Given the description of an element on the screen output the (x, y) to click on. 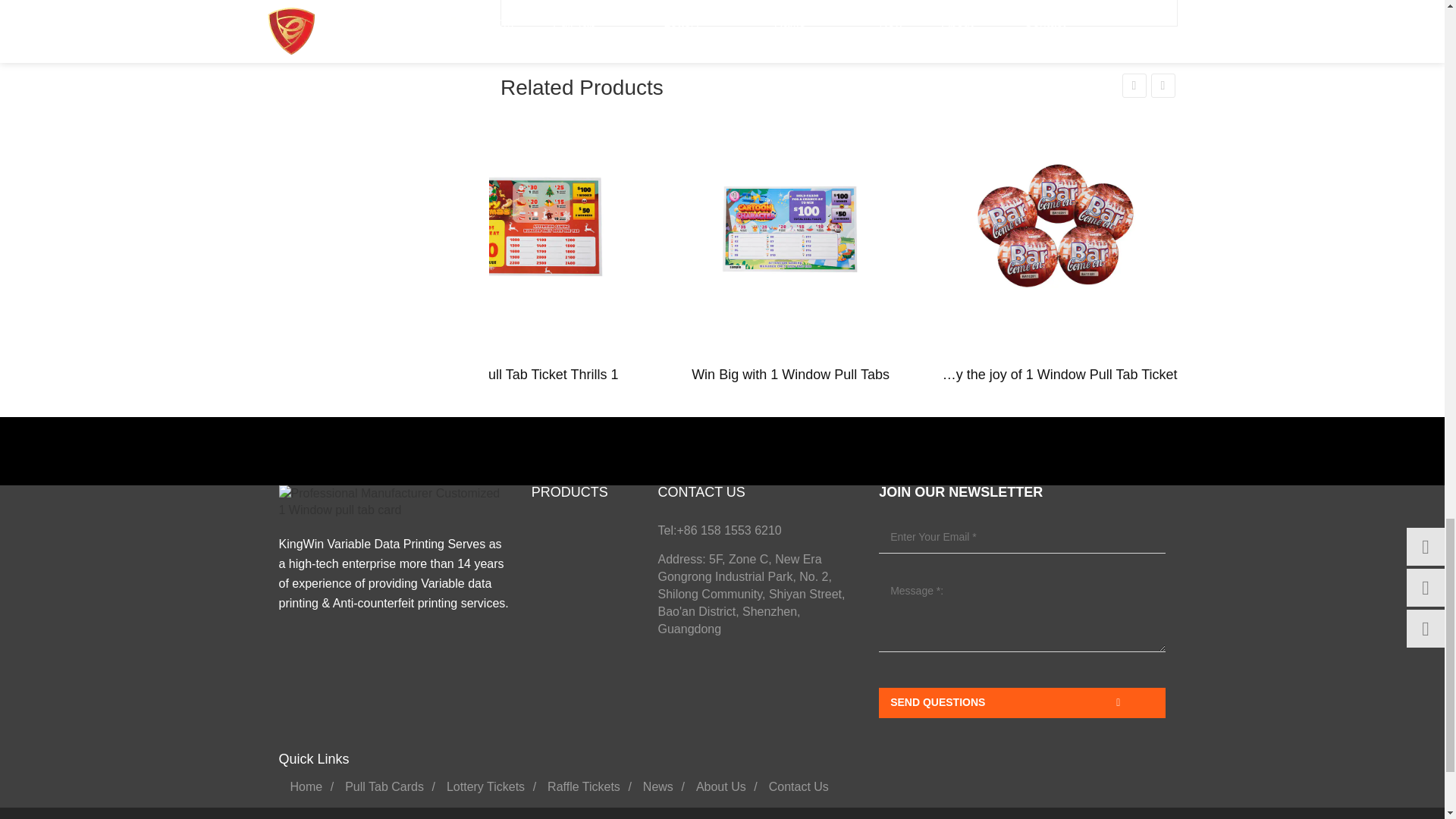
Enjoy the joy of 1 Window Pull Tab Ticket (1057, 225)
1 Window Pull Tab Ticket Thrills (523, 225)
Win Big with 1 Window Pull Tabs (789, 225)
